Given the description of an element on the screen output the (x, y) to click on. 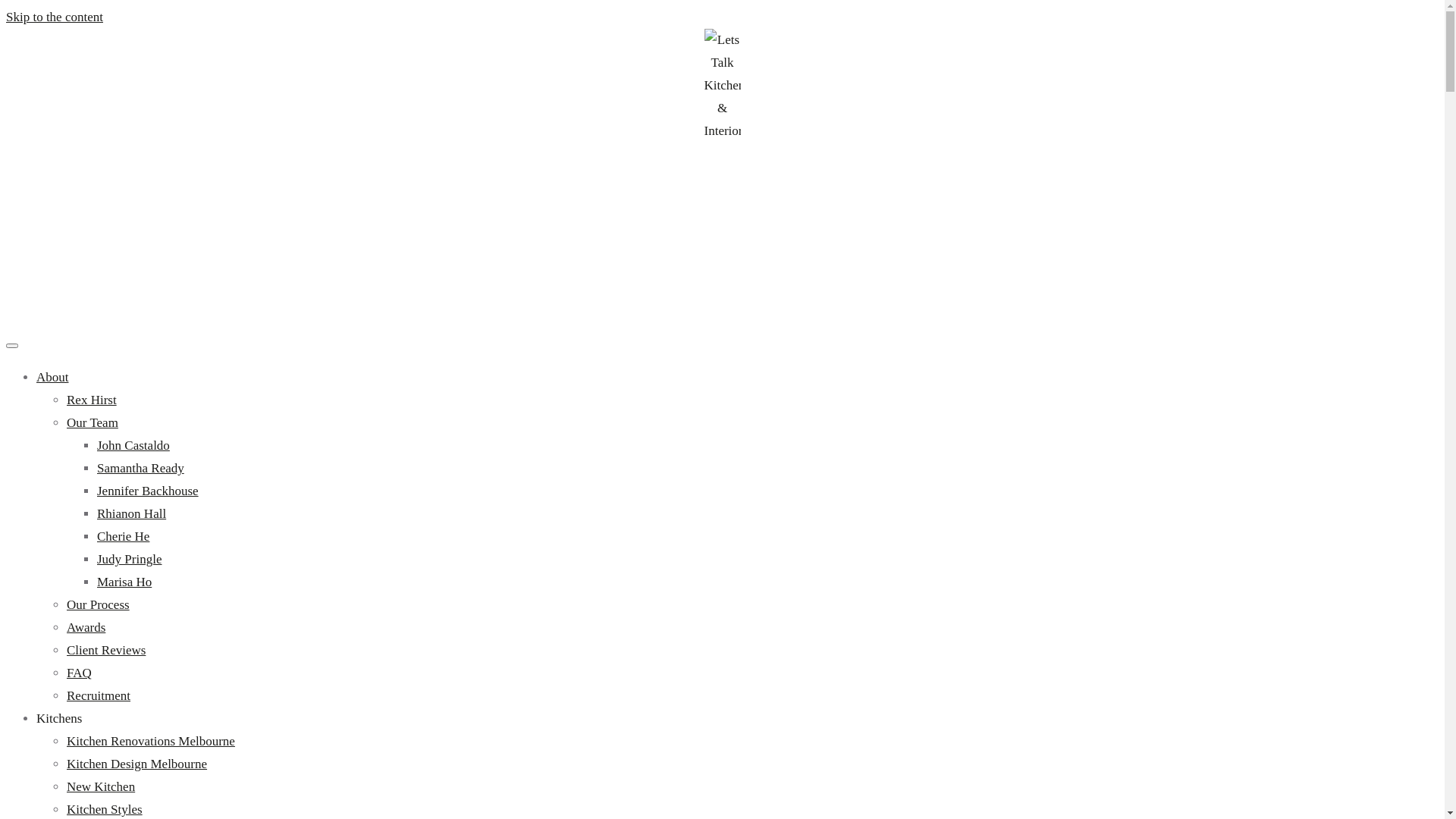
Recruitment Element type: text (98, 695)
Kitchen Styles Element type: text (104, 809)
John Castaldo Element type: text (133, 445)
Samantha Ready Element type: text (140, 468)
Cherie He Element type: text (123, 536)
Awards Element type: text (85, 627)
Rex Hirst Element type: text (91, 399)
Our Process Element type: text (97, 604)
Client Reviews Element type: text (105, 650)
New Kitchen Element type: text (100, 786)
About Element type: text (52, 377)
Skip to the content Element type: text (54, 16)
Our Team Element type: text (92, 422)
Kitchens Element type: text (58, 718)
Judy Pringle Element type: text (129, 559)
Marisa Ho Element type: text (124, 581)
Jennifer Backhouse Element type: text (147, 490)
Rhianon Hall Element type: text (131, 513)
Kitchen Design Melbourne Element type: text (136, 763)
Kitchen Renovations Melbourne Element type: text (150, 741)
FAQ Element type: text (78, 672)
